Given the description of an element on the screen output the (x, y) to click on. 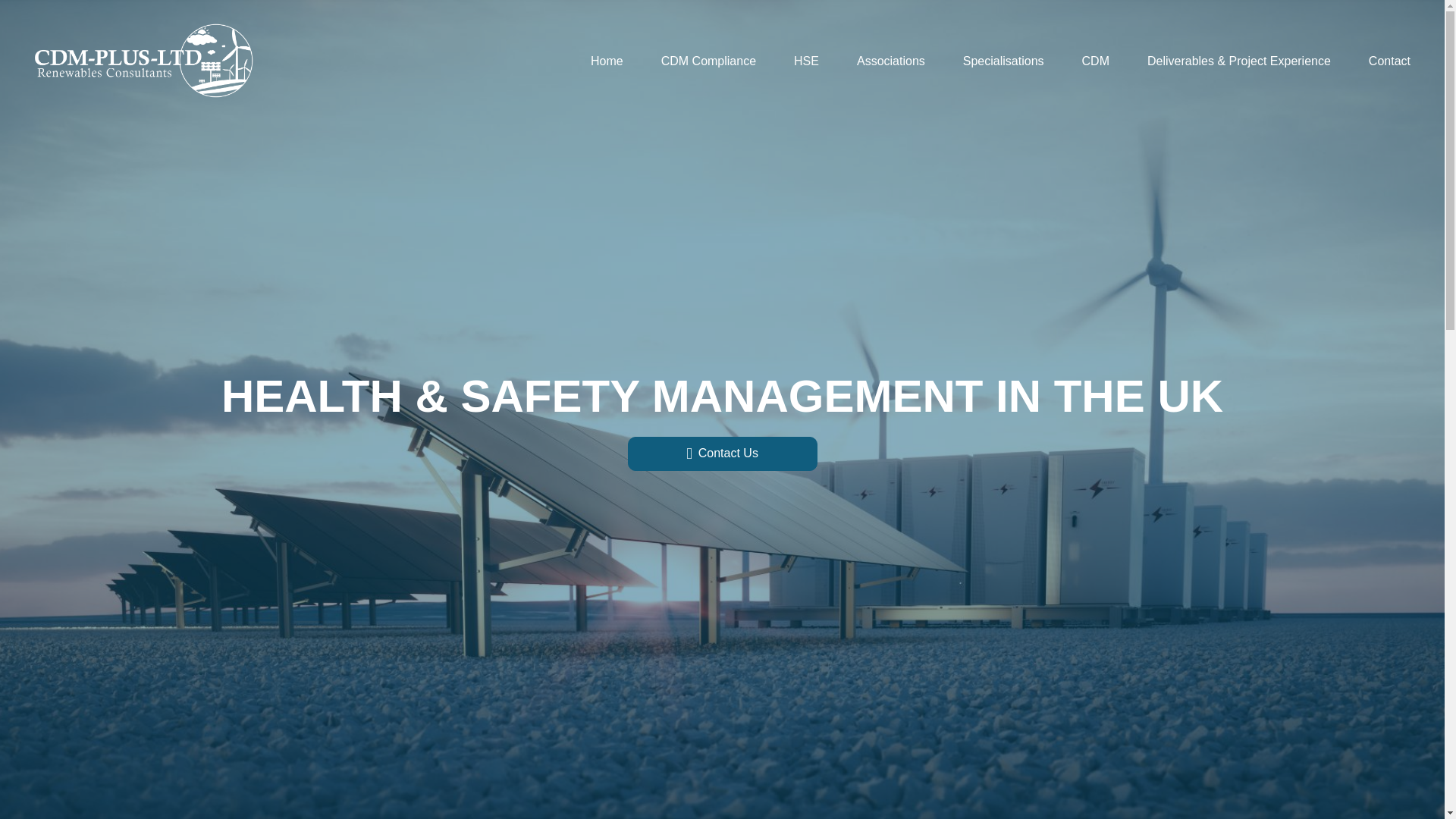
Specialisations (1002, 62)
Home (607, 62)
Contact (1389, 62)
HSE (805, 62)
CDM Compliance (708, 62)
Contact Us (721, 453)
Associations (890, 62)
LOGO WHITE copy (143, 62)
CDM (1095, 62)
